Given the description of an element on the screen output the (x, y) to click on. 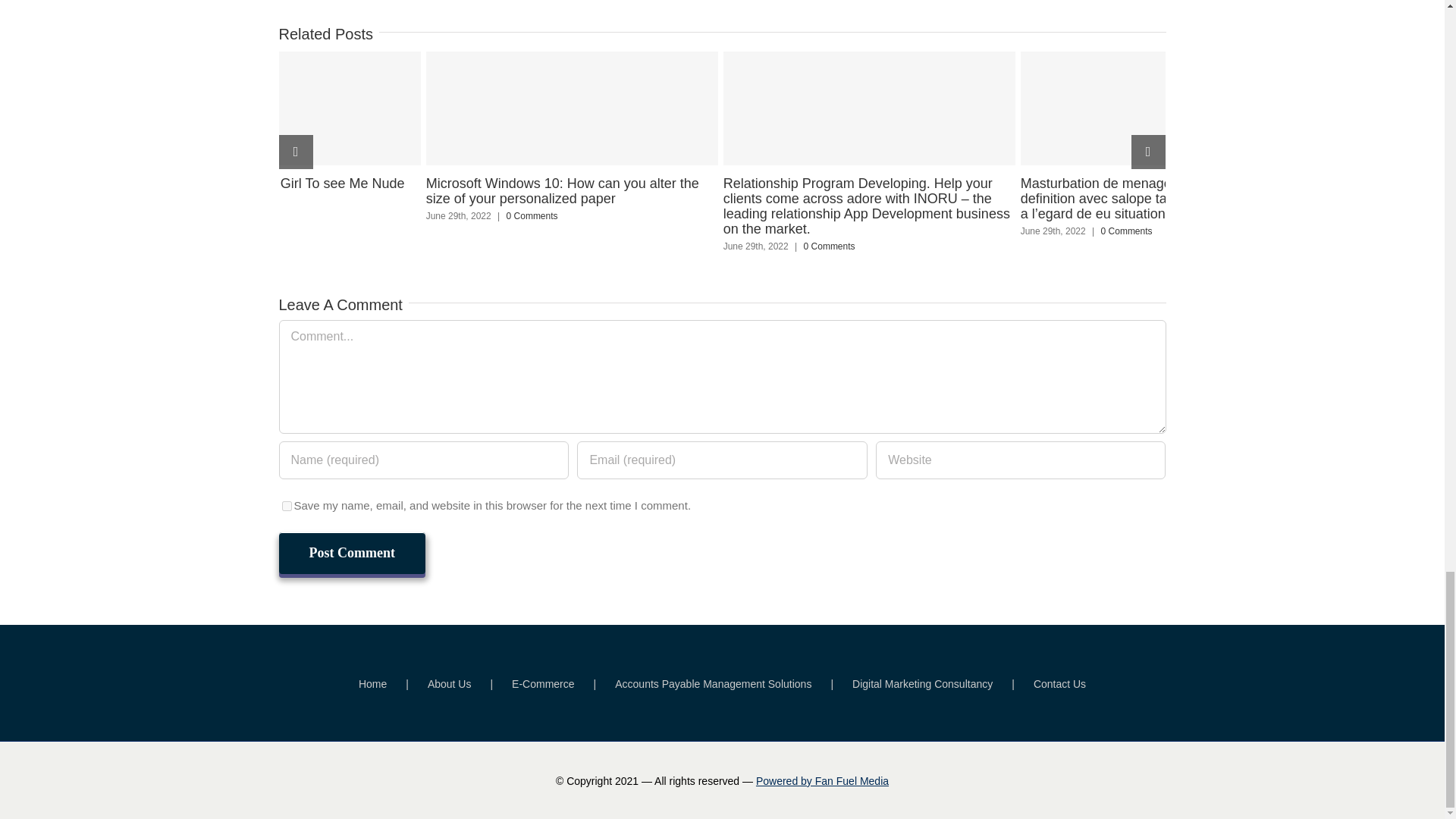
Post Comment (352, 553)
yes (287, 506)
